Given the description of an element on the screen output the (x, y) to click on. 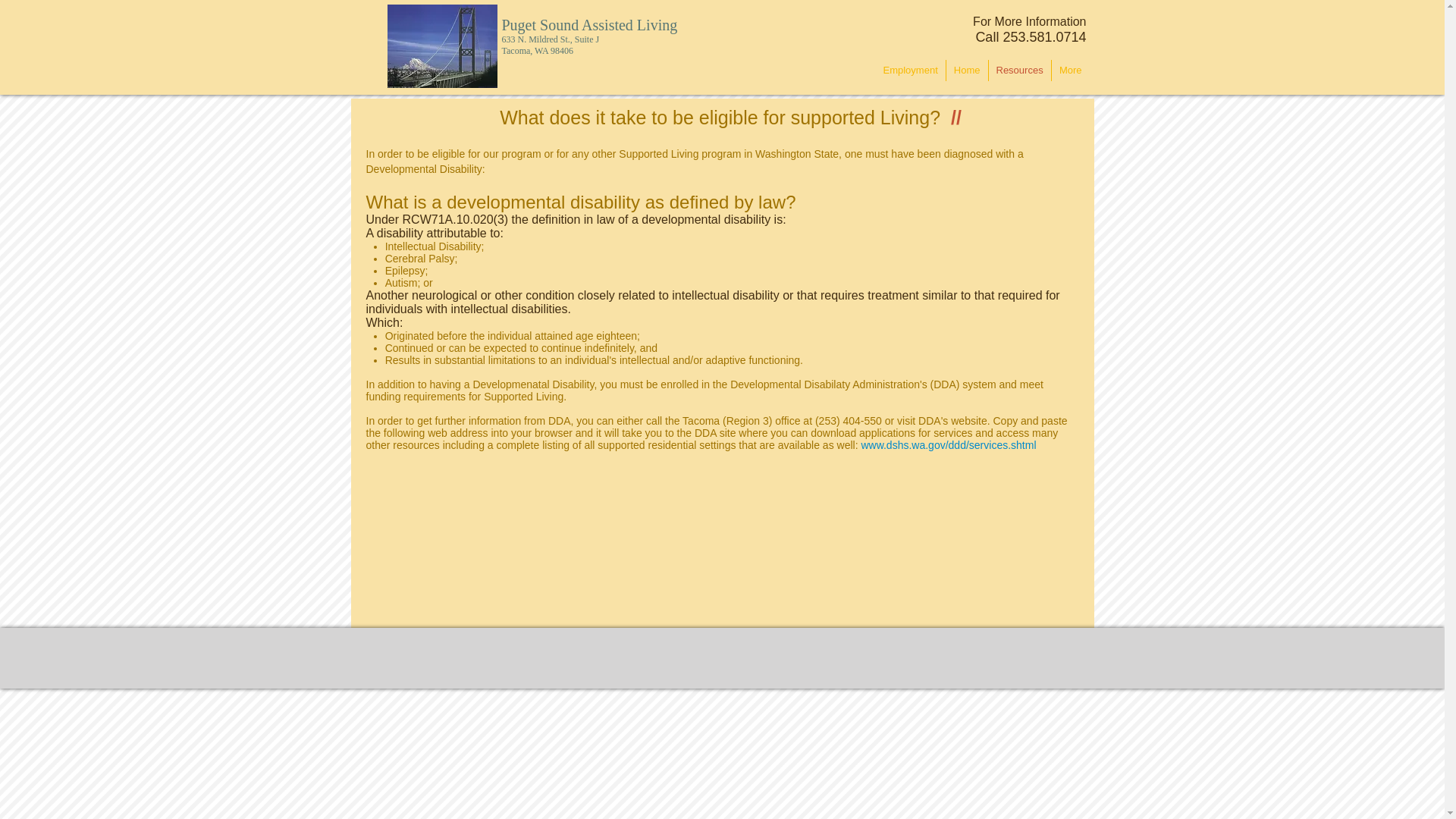
Resources (1019, 70)
Employment (909, 70)
Home (967, 70)
vfiles7320.jpg (441, 45)
